Given the description of an element on the screen output the (x, y) to click on. 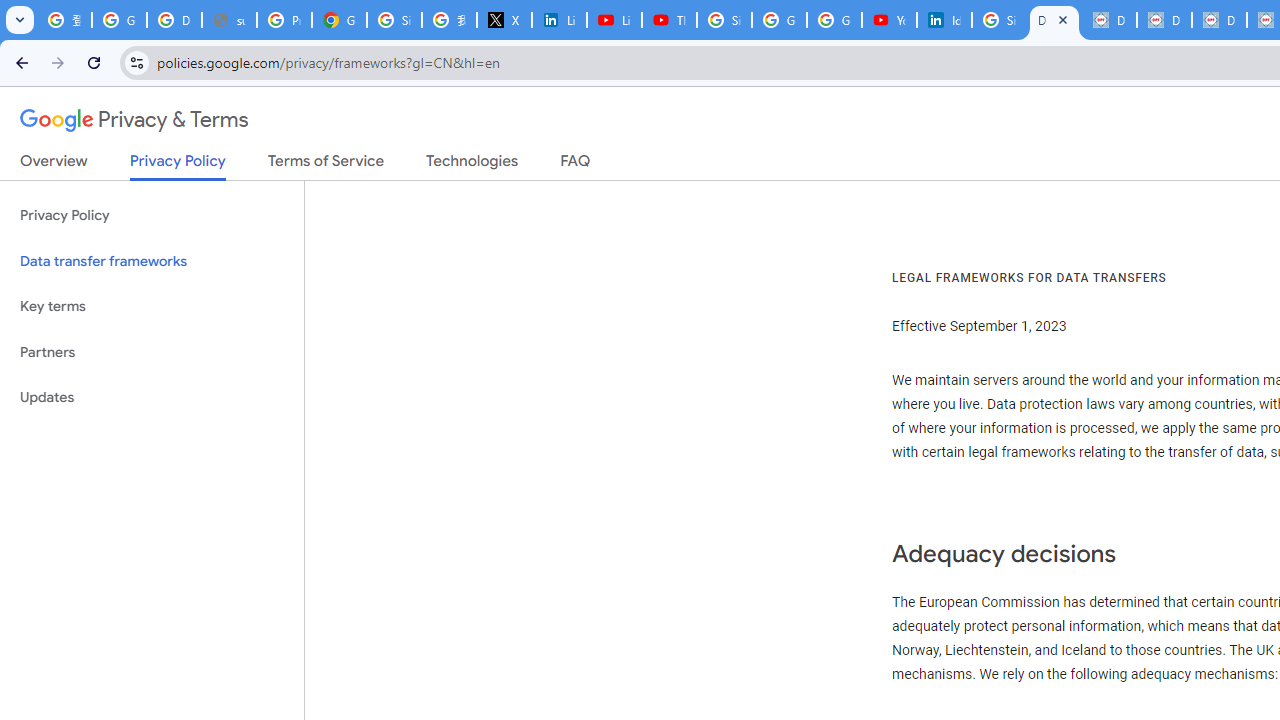
LinkedIn - YouTube (614, 20)
Sign in - Google Accounts (394, 20)
Data Privacy Framework (1218, 20)
